Given the description of an element on the screen output the (x, y) to click on. 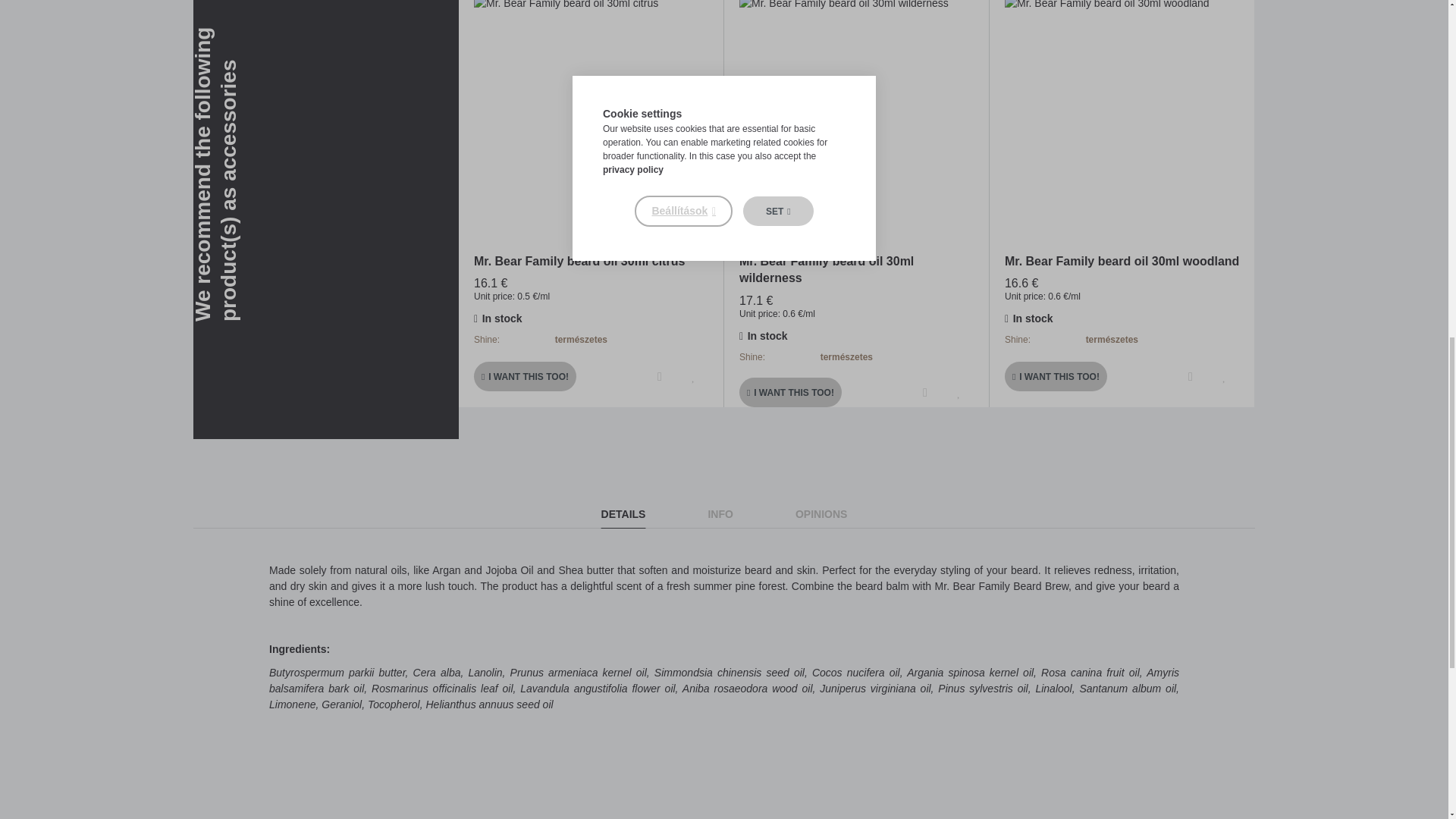
Mr. Bear Family beard oil 30ml citrus (591, 115)
Mr. Bear Family beard oil 30ml woodland (1122, 115)
Mr. Bear Family beard oil 30ml wilderness (856, 115)
